Given the description of an element on the screen output the (x, y) to click on. 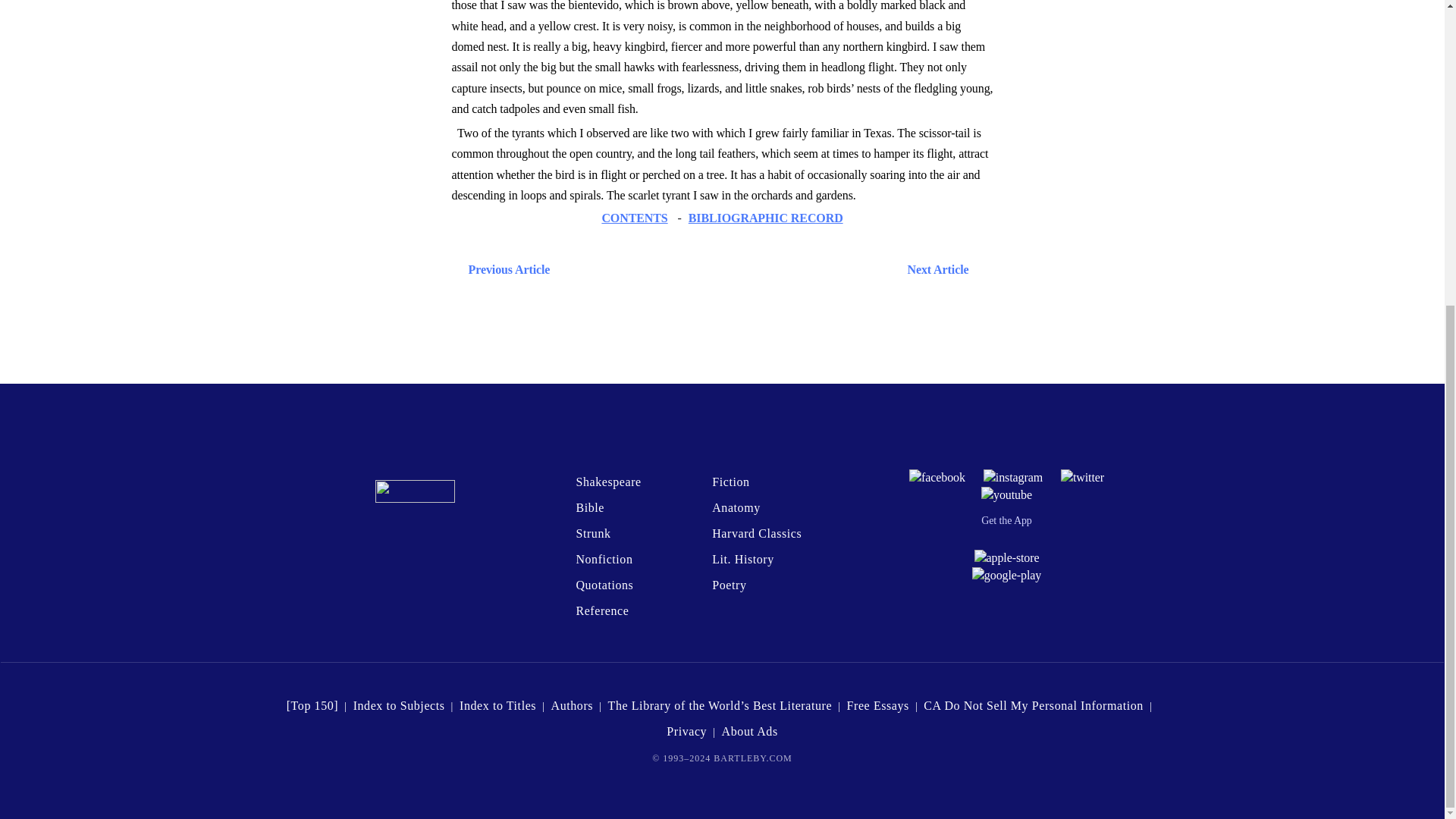
Previous Article (505, 269)
Fiction (730, 481)
Bible (589, 507)
Harvard Classics (756, 533)
Nonfiction (603, 558)
Poetry (728, 584)
Shakespeare (607, 481)
Anatomy (735, 507)
Strunk (592, 533)
Reference (601, 610)
BIBLIOGRAPHIC RECORD (765, 217)
Quotations (604, 584)
CONTENTS (633, 217)
Next Article (766, 269)
Lit. History (742, 558)
